Given the description of an element on the screen output the (x, y) to click on. 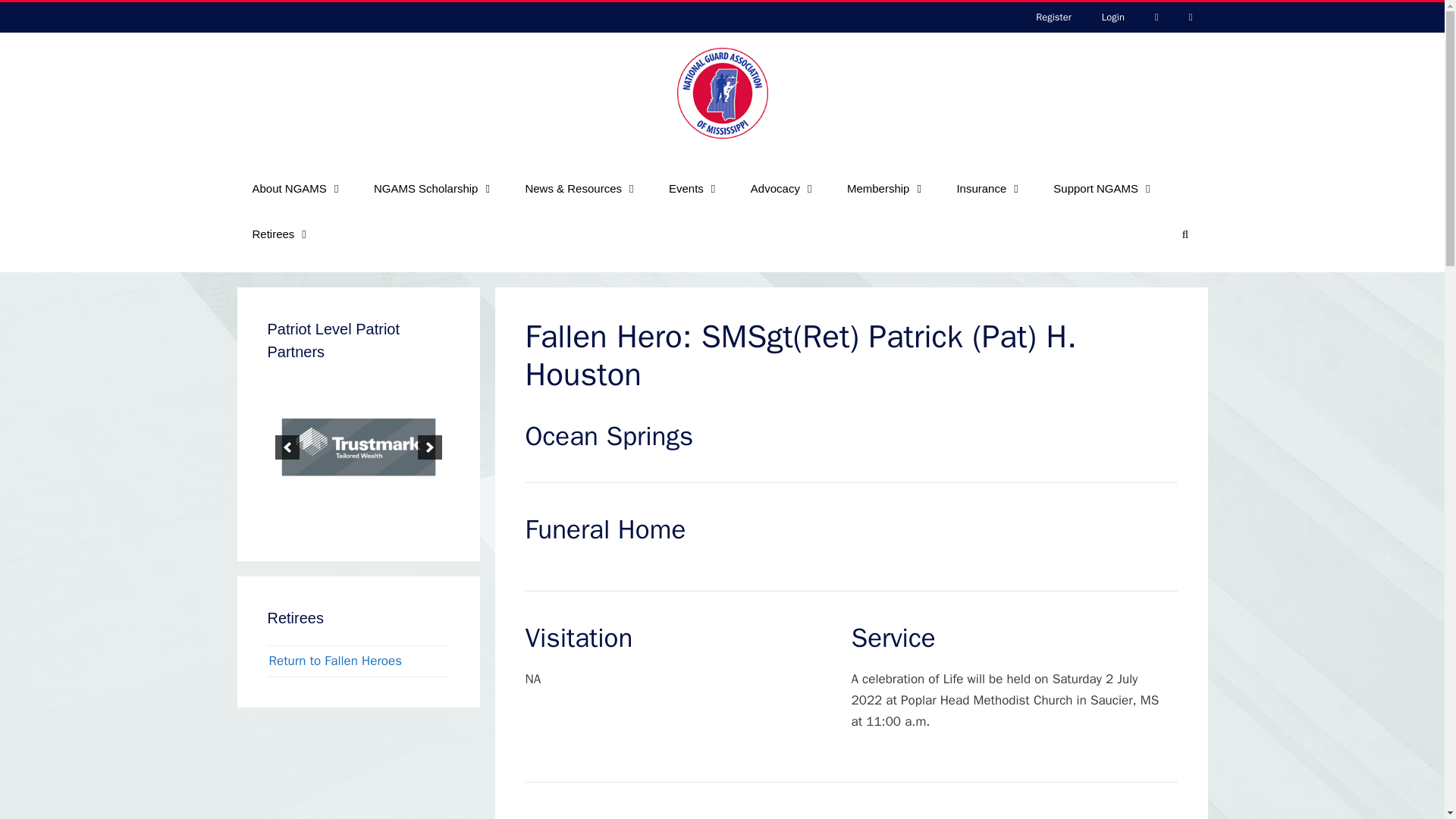
Trustmark Tailored Wealth (357, 447)
About NGAMS (296, 188)
Events (694, 188)
NGAMS Scholarship (434, 188)
Register (1053, 17)
Login (1113, 17)
